Given the description of an element on the screen output the (x, y) to click on. 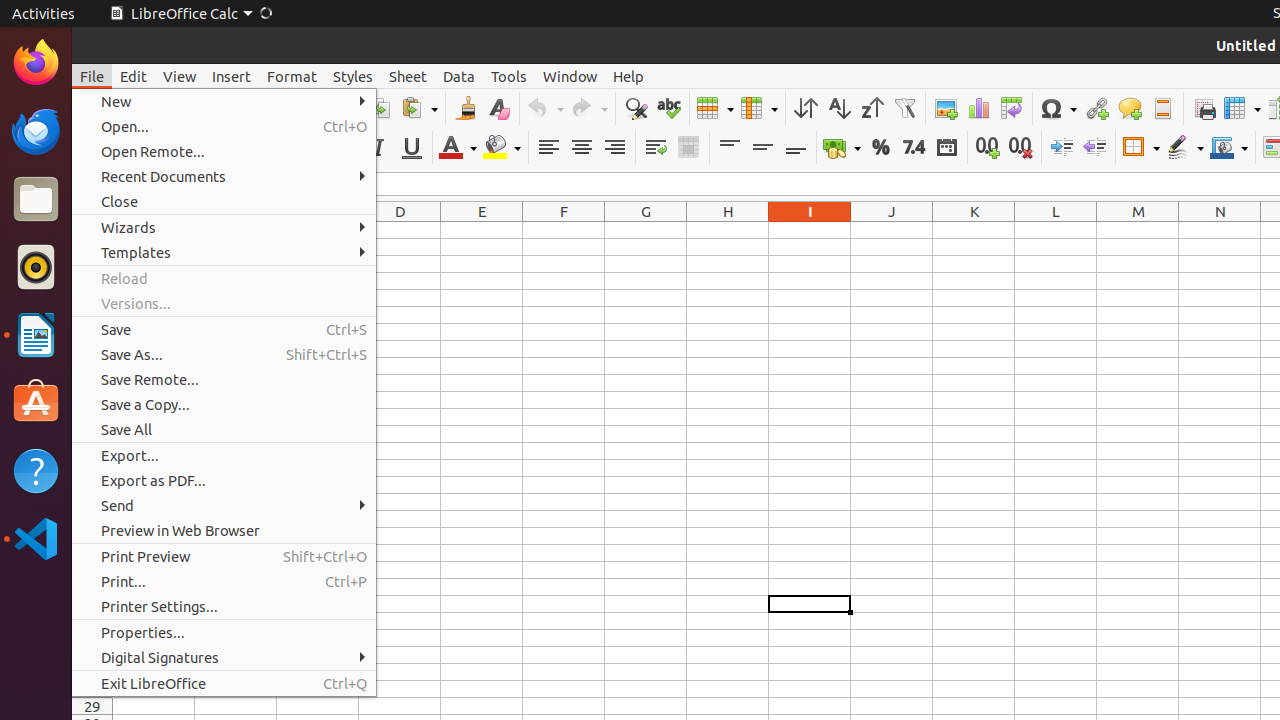
AutoFilter Element type: push-button (904, 108)
Printer Settings... Element type: menu-item (224, 606)
Align Bottom Element type: push-button (795, 147)
Insert Element type: menu (231, 76)
Close Element type: menu-item (224, 201)
